Given the description of an element on the screen output the (x, y) to click on. 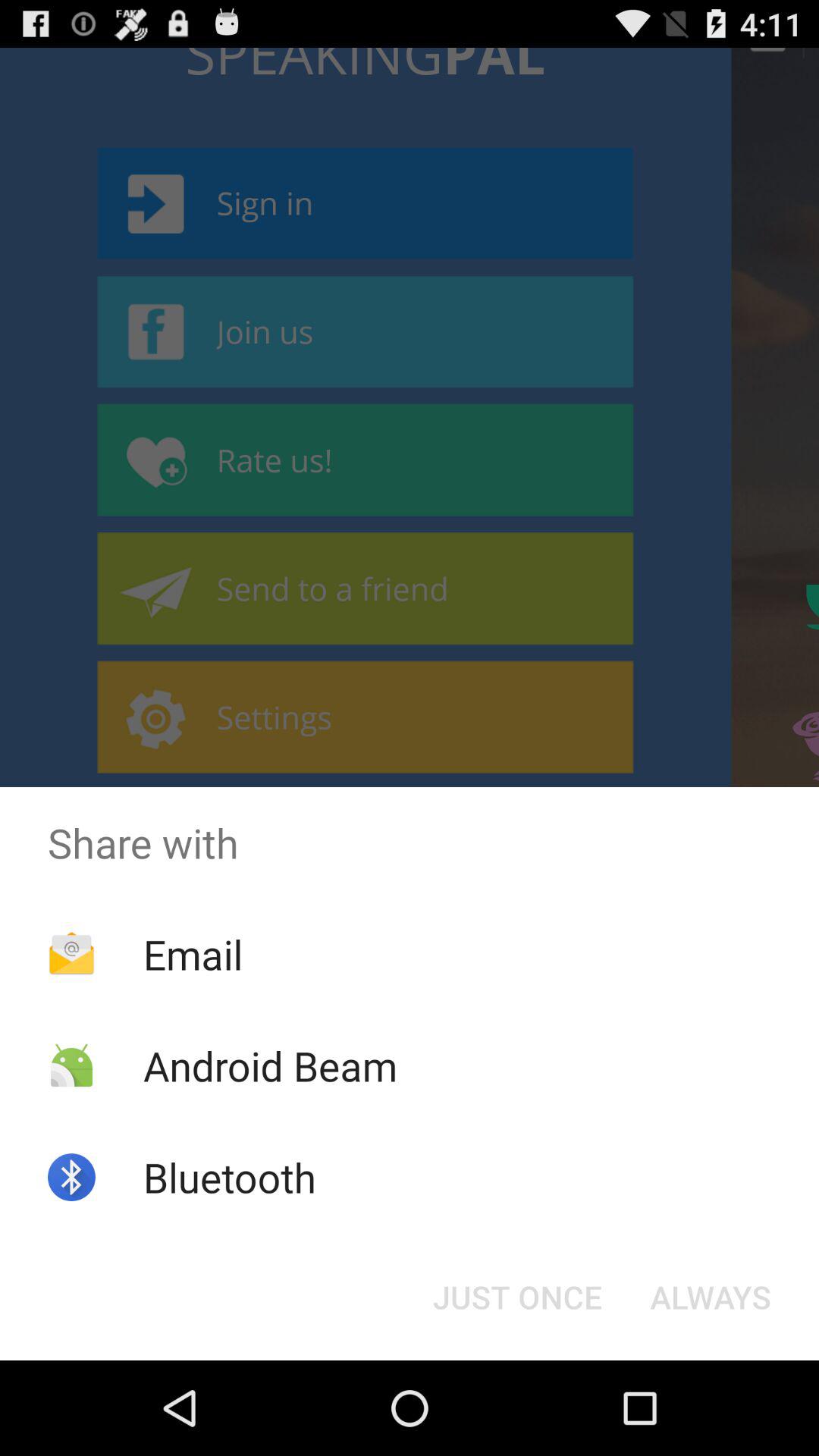
swipe to the bluetooth item (229, 1176)
